Given the description of an element on the screen output the (x, y) to click on. 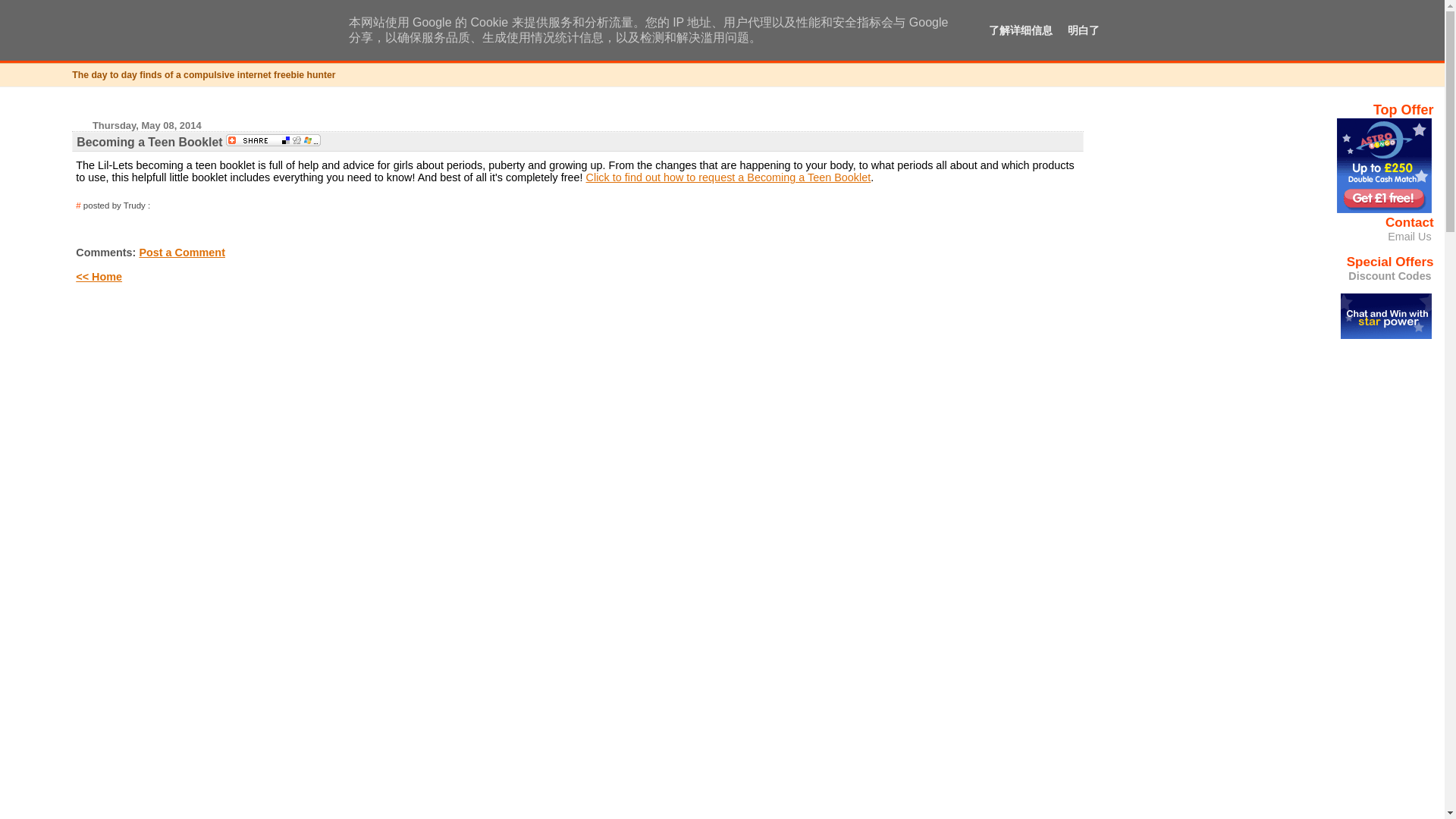
permanent link (77, 204)
Email Us (218, 38)
Email Post (1409, 236)
Post a Comment (158, 204)
Discount Codes (181, 252)
Click to find out how to request a Becoming a Teen Booklet (1389, 275)
